Given the description of an element on the screen output the (x, y) to click on. 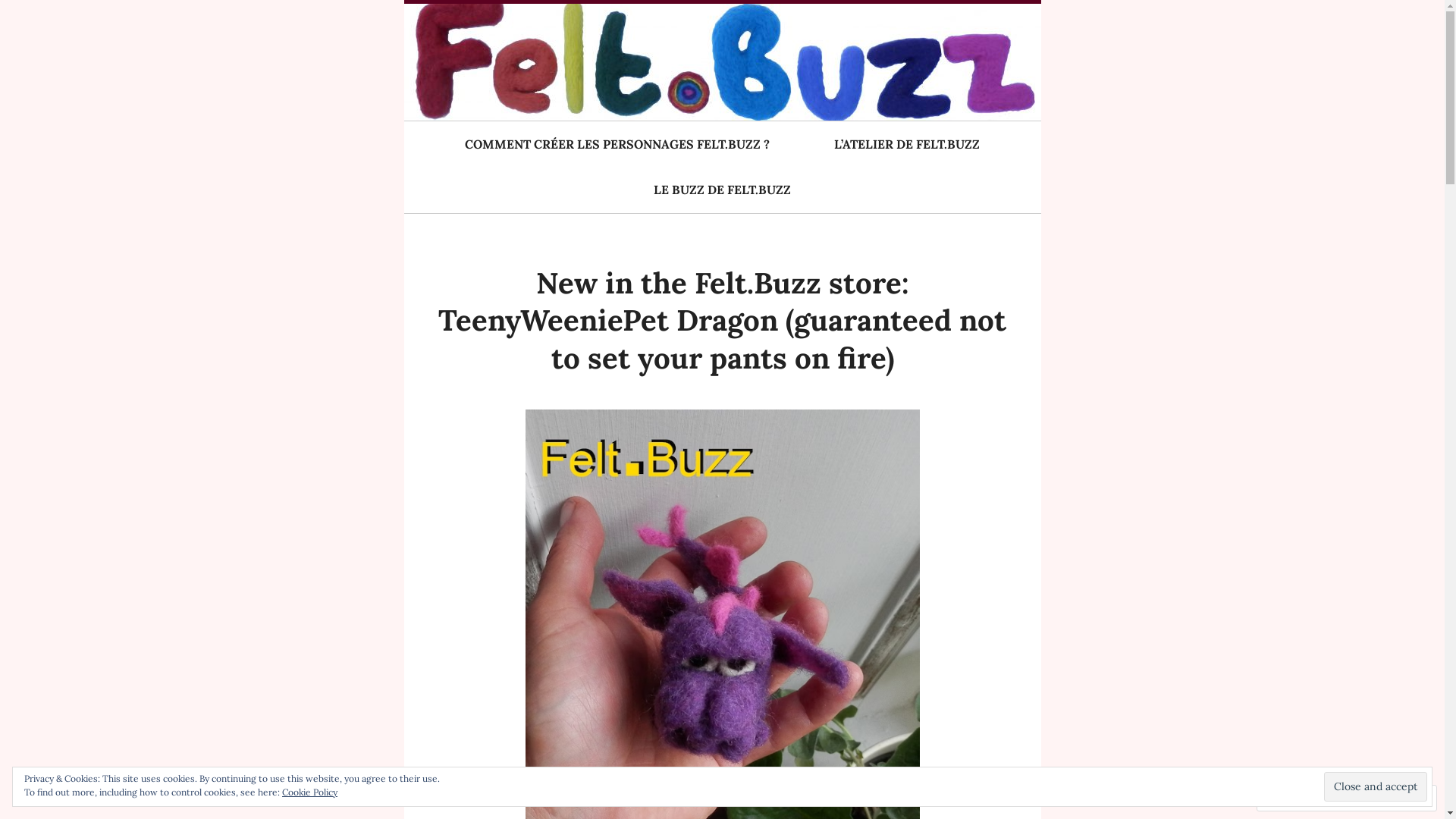
Cookie Policy Element type: text (309, 791)
Follow Element type: text (1373, 797)
LE BUZZ DE FELT.BUZZ Element type: text (721, 189)
Felt.Buzz Element type: text (451, 49)
Close and accept Element type: text (1375, 786)
Comment Element type: text (1297, 797)
